Given the description of an element on the screen output the (x, y) to click on. 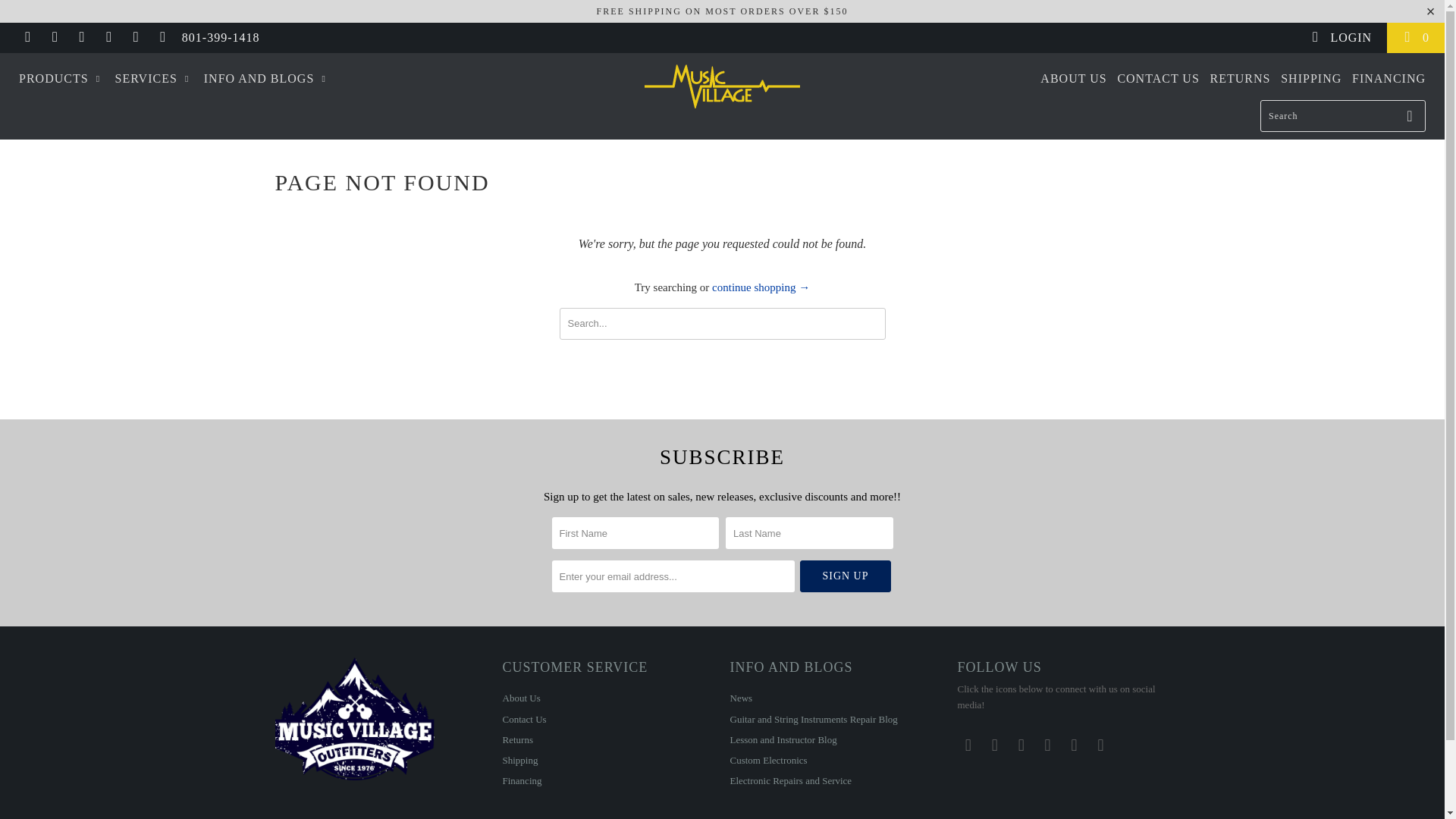
Music Village USA on Pinterest (1047, 745)
Email Music Village USA (1100, 745)
Music Village USA on Twitter (26, 37)
Sign Up (845, 576)
Music Village USA on YouTube (1021, 745)
Music Village USA on Instagram (134, 37)
Music Village USA on Instagram (1074, 745)
Email Music Village USA (162, 37)
Music Village USA on Facebook (54, 37)
Music Village USA (722, 86)
Music Village USA on Facebook (995, 745)
Music Village USA on Twitter (967, 745)
Music Village USA on YouTube (80, 37)
My Account  (1340, 37)
Music Village USA on Pinterest (108, 37)
